Given the description of an element on the screen output the (x, y) to click on. 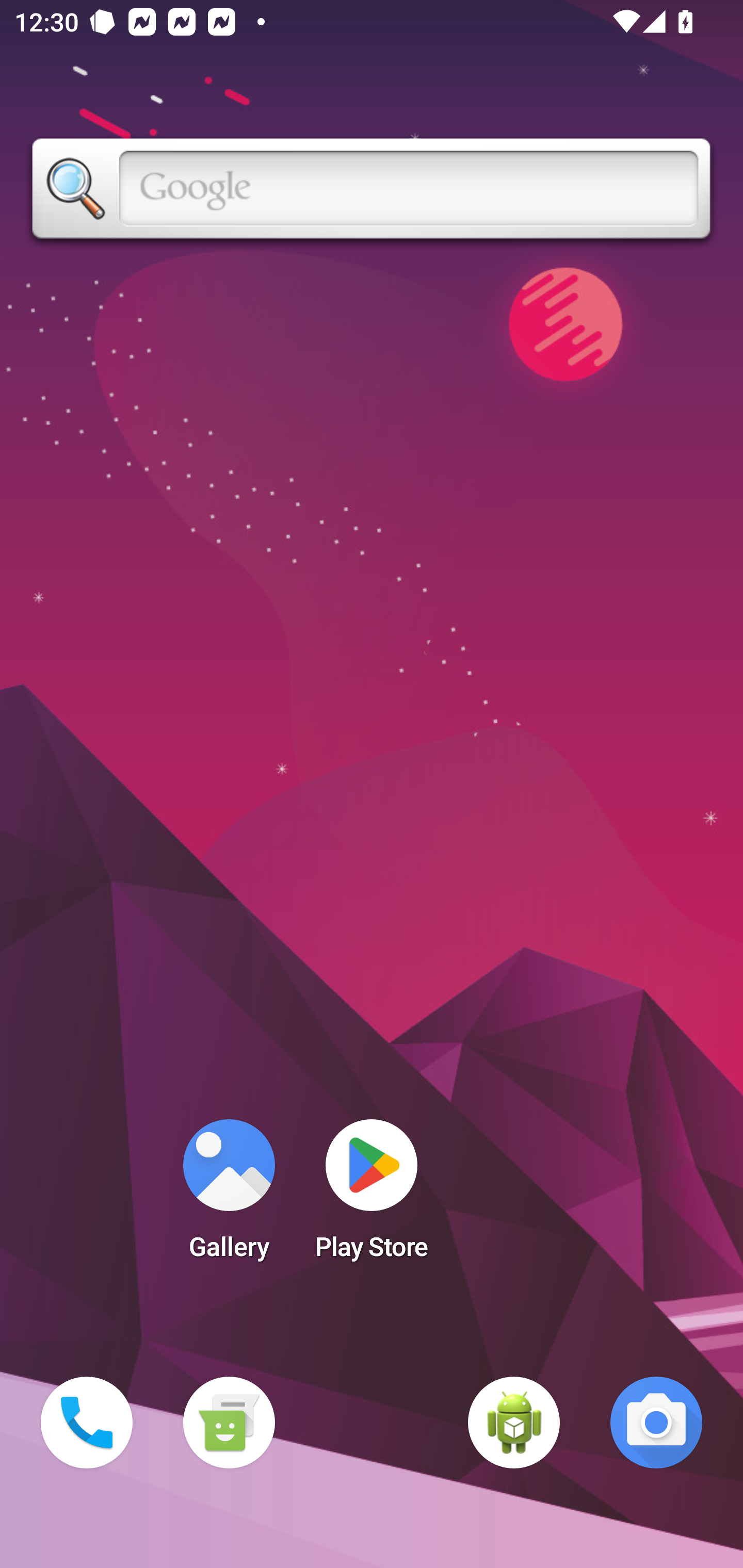
Gallery (228, 1195)
Play Store (371, 1195)
Phone (86, 1422)
Messaging (228, 1422)
WebView Browser Tester (513, 1422)
Camera (656, 1422)
